Given the description of an element on the screen output the (x, y) to click on. 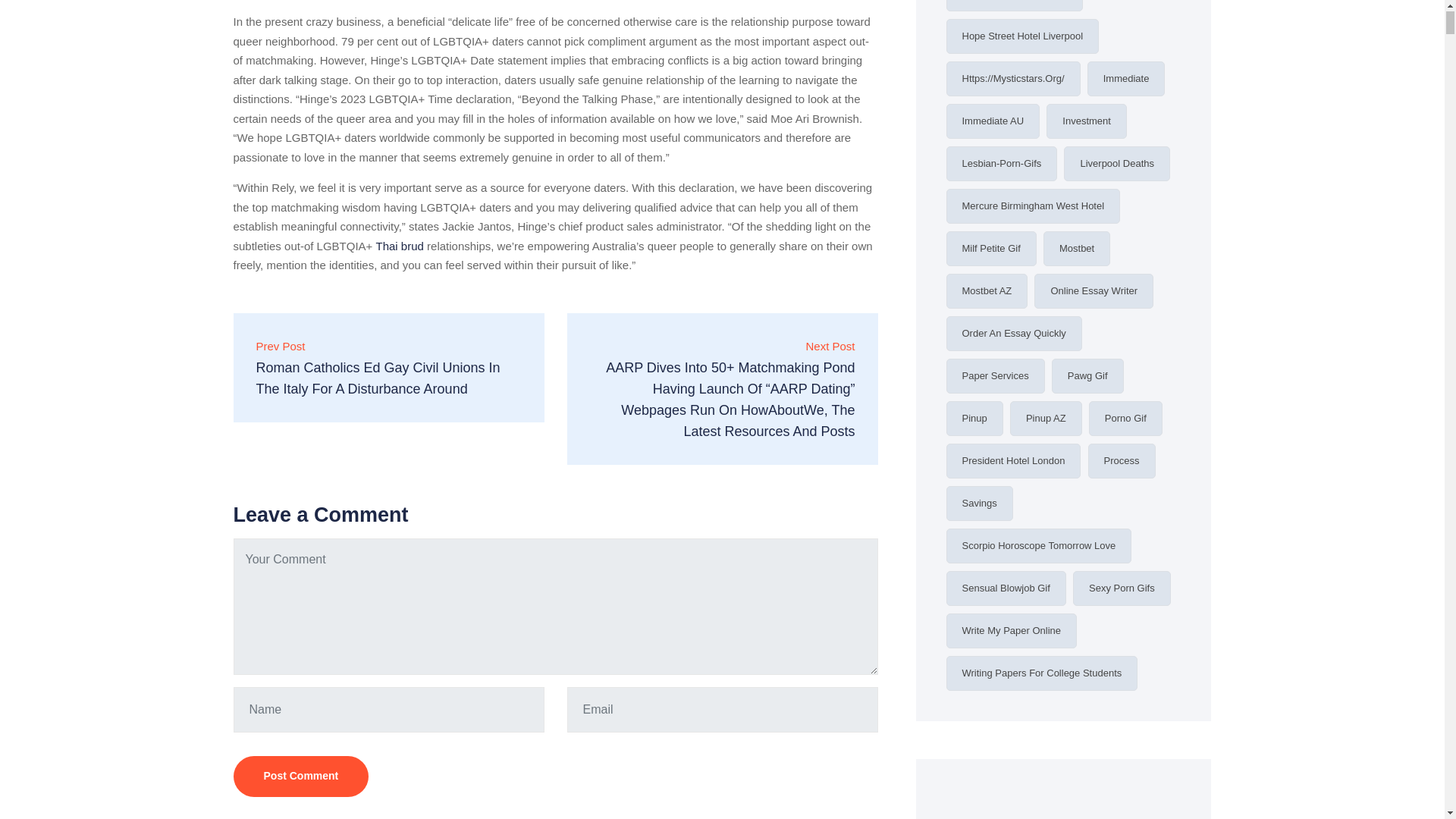
Post Comment (300, 775)
Thai brud (399, 245)
